Given the description of an element on the screen output the (x, y) to click on. 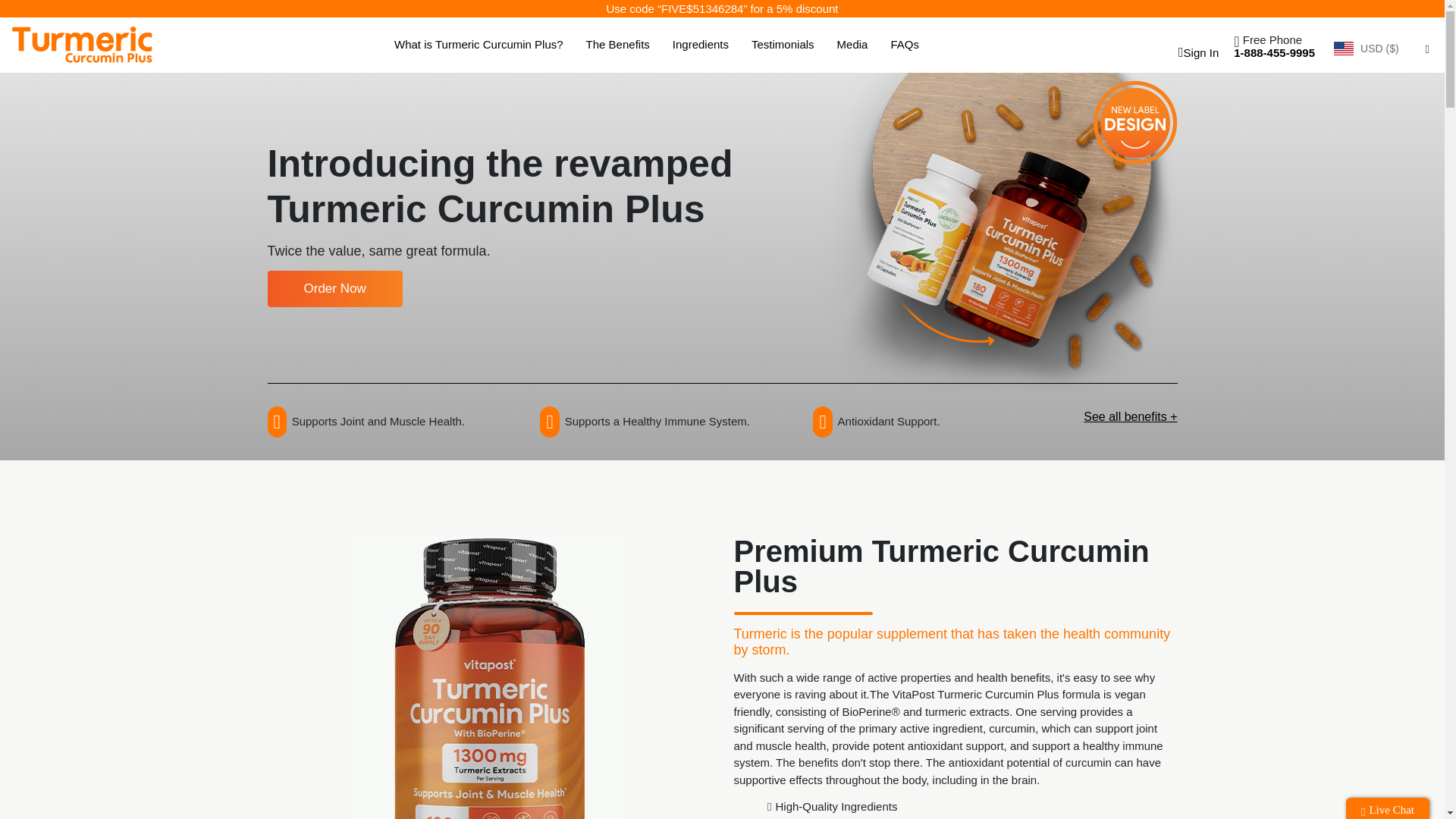
Sign In (1195, 51)
FAQs (903, 45)
The Benefits (617, 45)
1-888-455-9995 (1273, 51)
Testimonials (782, 45)
Media (852, 45)
Ingredients (700, 45)
Order Now (333, 289)
Turmeric Curcumin Plus Official Logo (81, 44)
What is Turmeric Curcumin Plus? (478, 45)
